Given the description of an element on the screen output the (x, y) to click on. 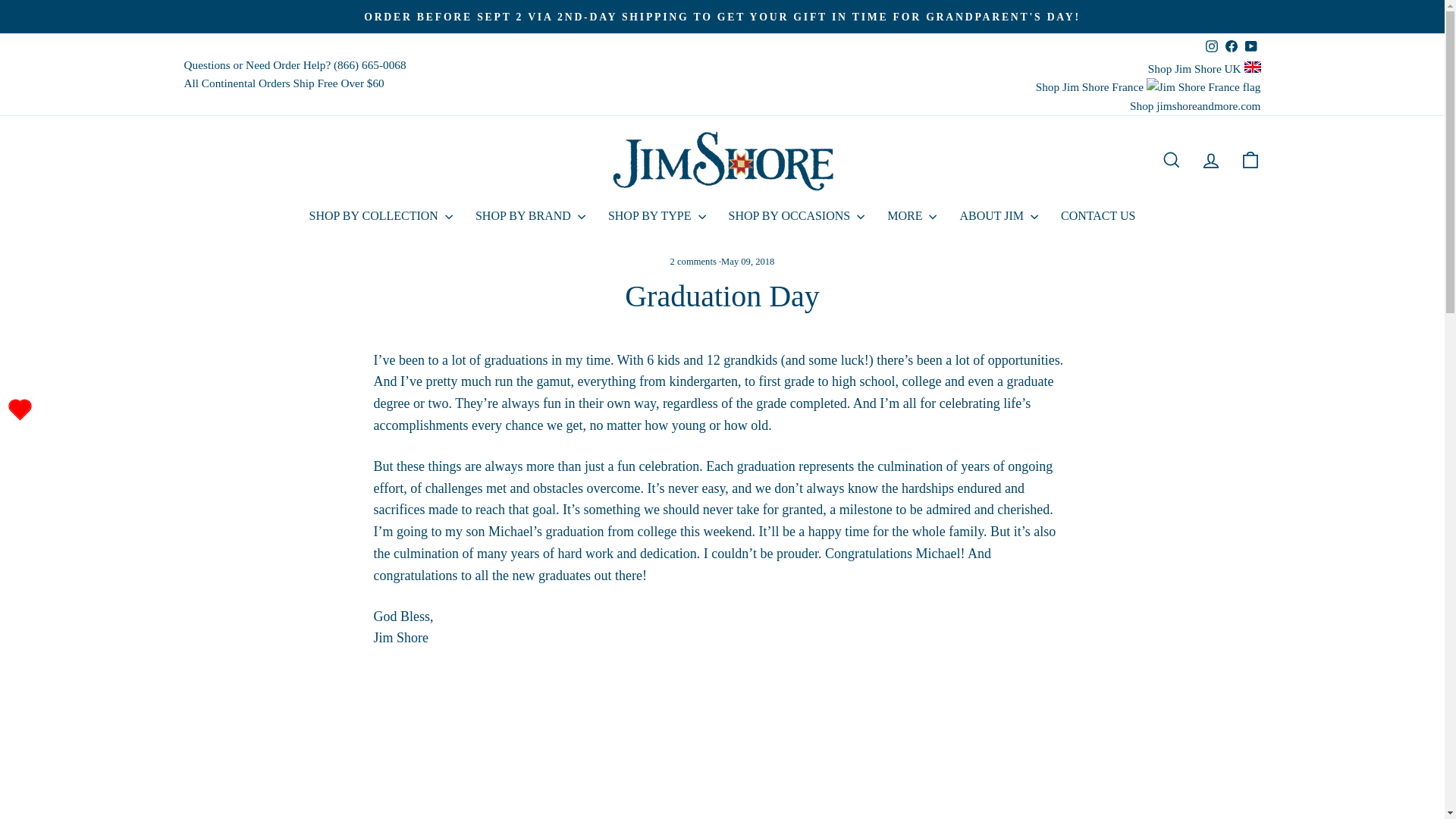
ACCOUNT (1210, 160)
instagram (1211, 46)
ICON-BAG-MINIMAL (1249, 159)
Wishlist (19, 409)
ICON-SEARCH (1170, 159)
